Given the description of an element on the screen output the (x, y) to click on. 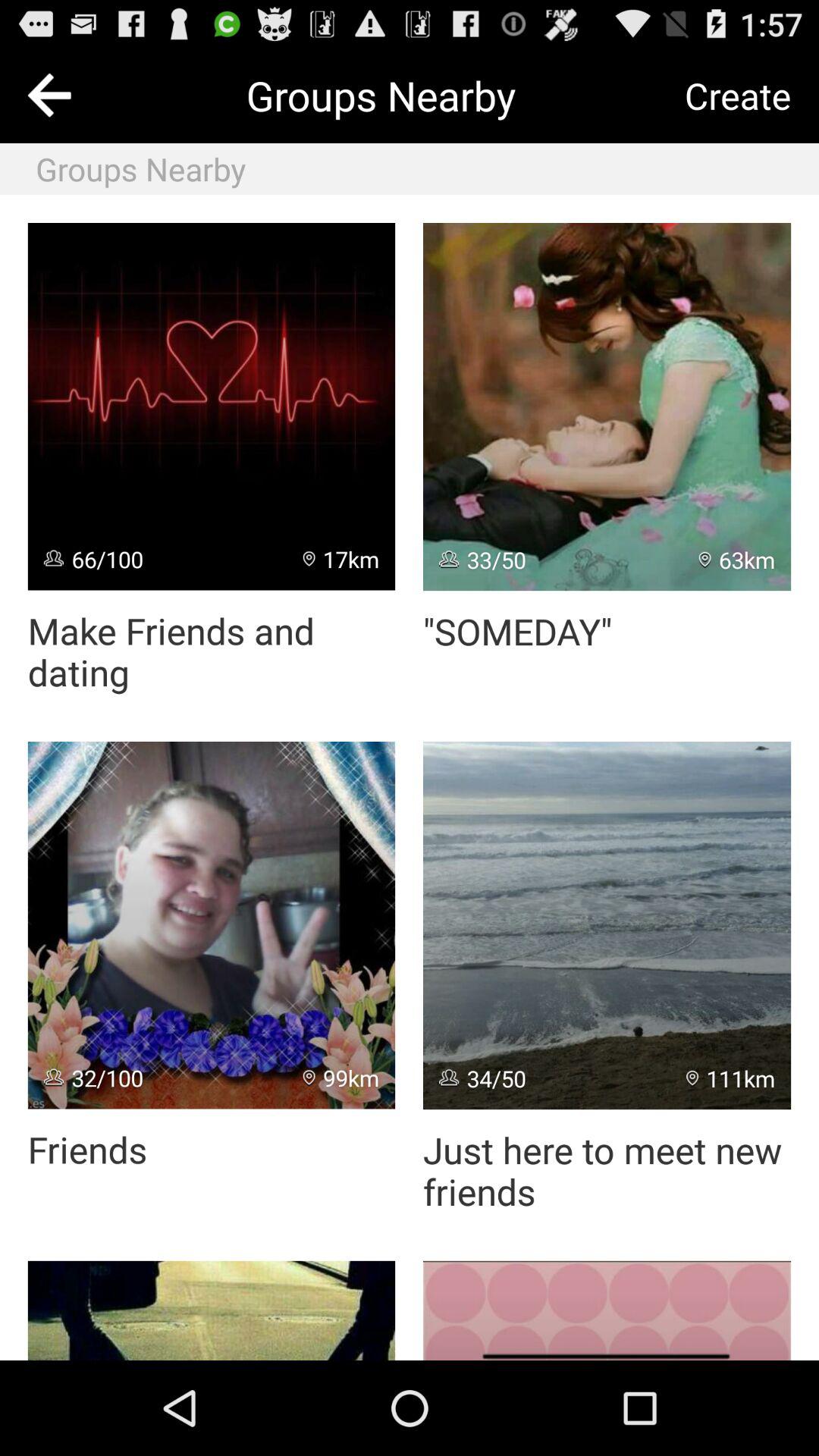
flip to make friends and app (211, 651)
